Given the description of an element on the screen output the (x, y) to click on. 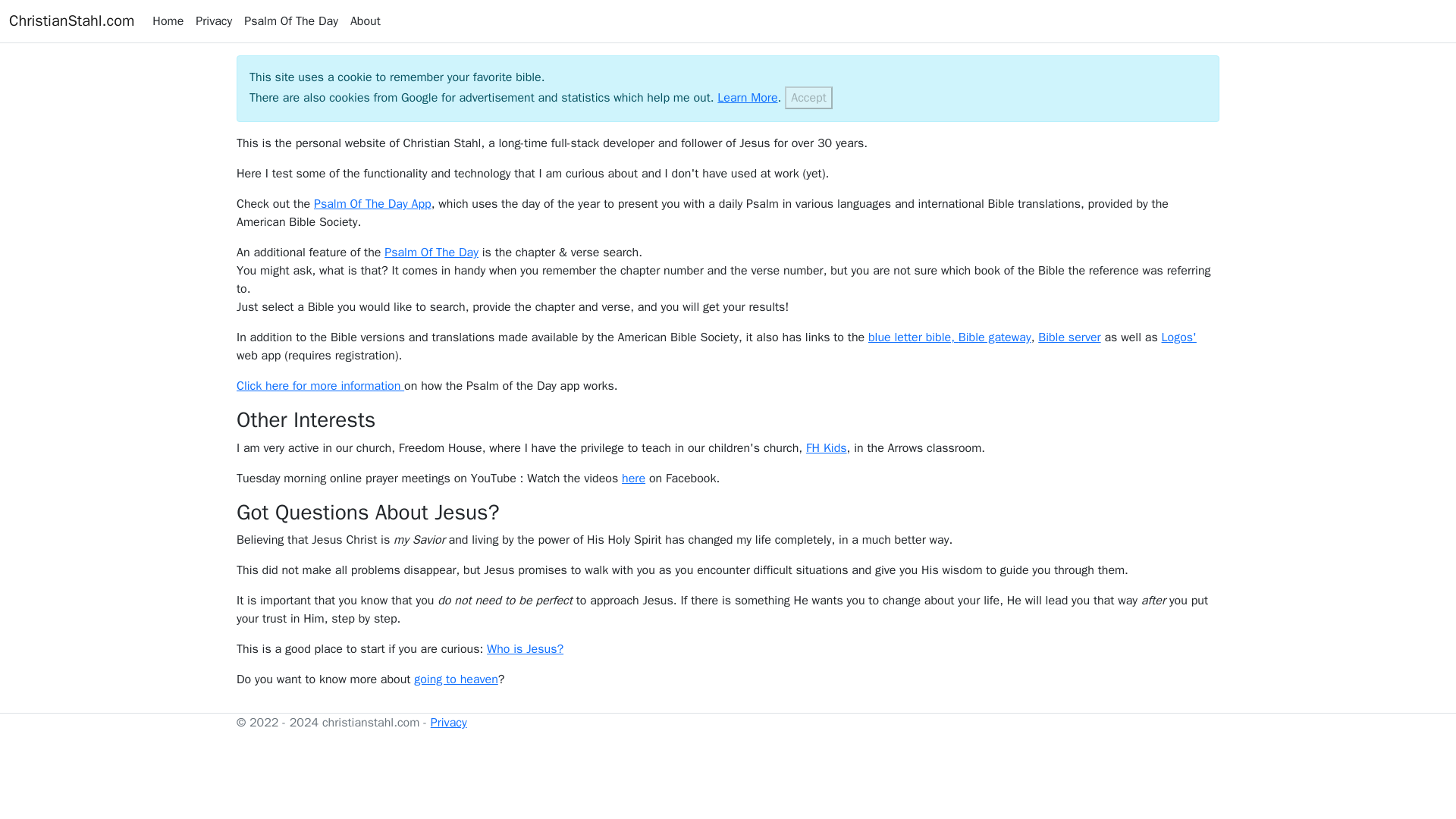
here (633, 478)
About (365, 20)
Logos' (1178, 337)
ChristianStahl.com (70, 20)
Psalm Of The Day (290, 20)
Psalm Of The Day App (372, 203)
blue letter bible, (912, 337)
going to heaven (455, 679)
Learn More (747, 97)
Home (168, 20)
